Given the description of an element on the screen output the (x, y) to click on. 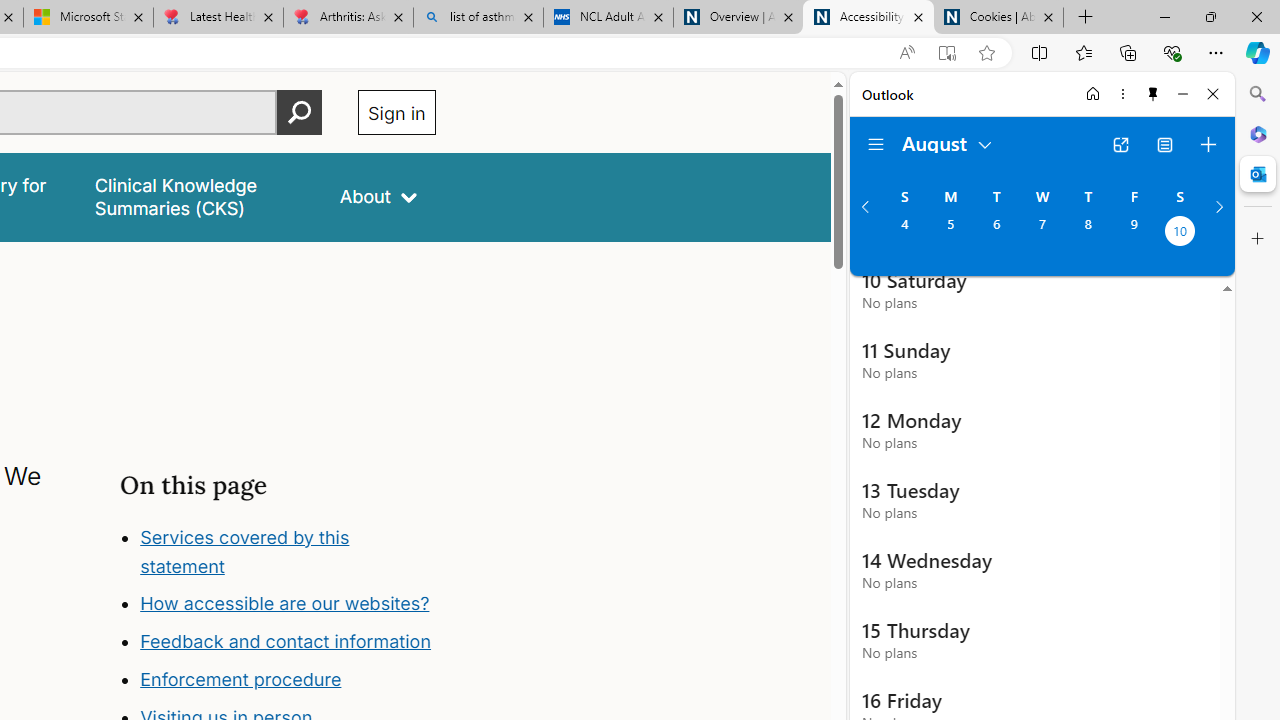
Create event (1208, 144)
How accessible are our websites? (287, 604)
Monday, August 5, 2024.  (950, 233)
